Given the description of an element on the screen output the (x, y) to click on. 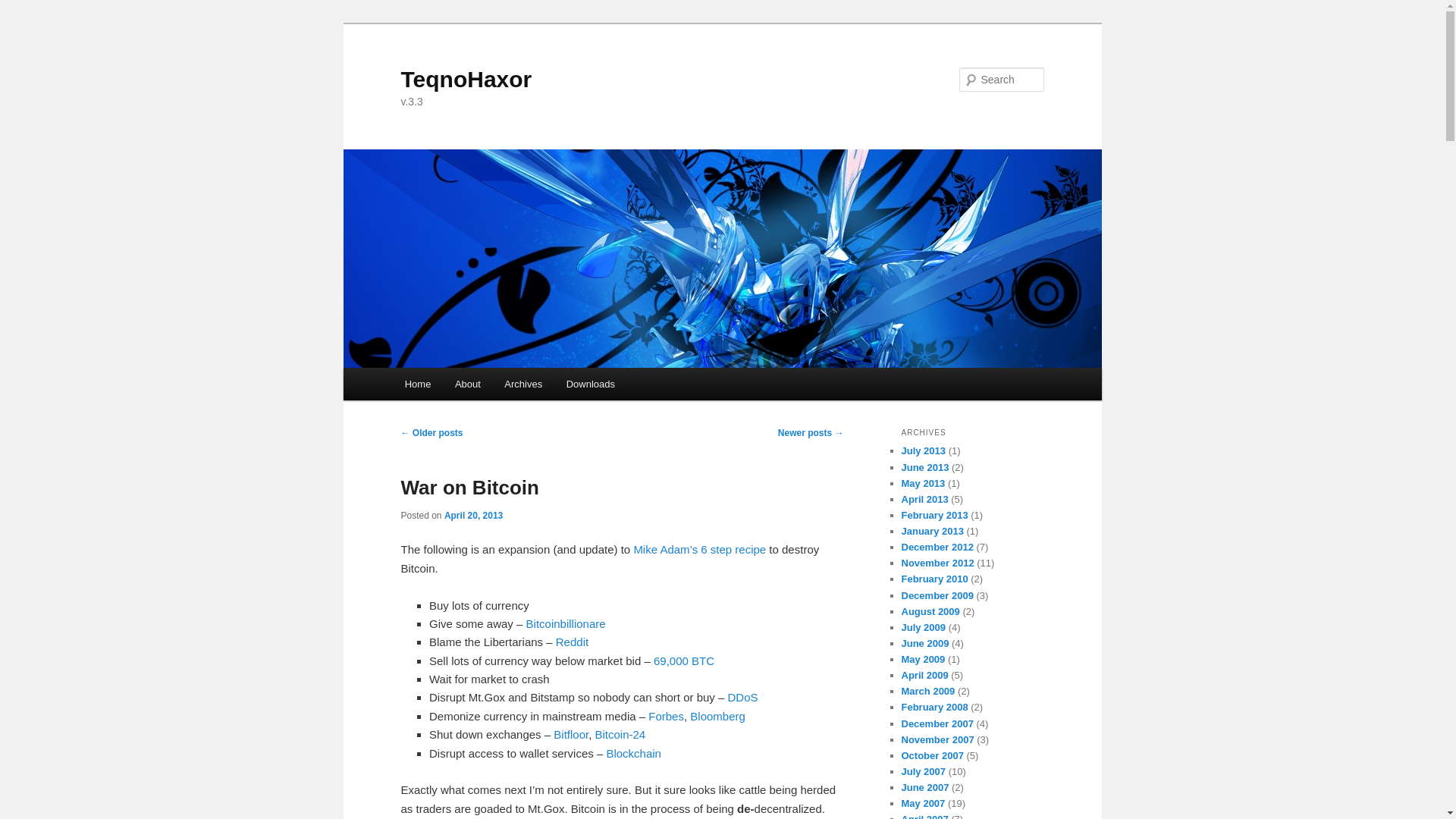
Search (24, 8)
Reddit (572, 641)
DDoS (743, 697)
Bitfloor (570, 734)
Blockchain (633, 753)
TeqnoHaxor (465, 78)
69,000 BTC (683, 660)
April 20, 2013 (473, 515)
Forbes (665, 716)
3:52 pm (473, 515)
Home (417, 383)
Bitcoinbillionare (565, 623)
Archives (523, 383)
Bitcoin-24 (619, 734)
